Given the description of an element on the screen output the (x, y) to click on. 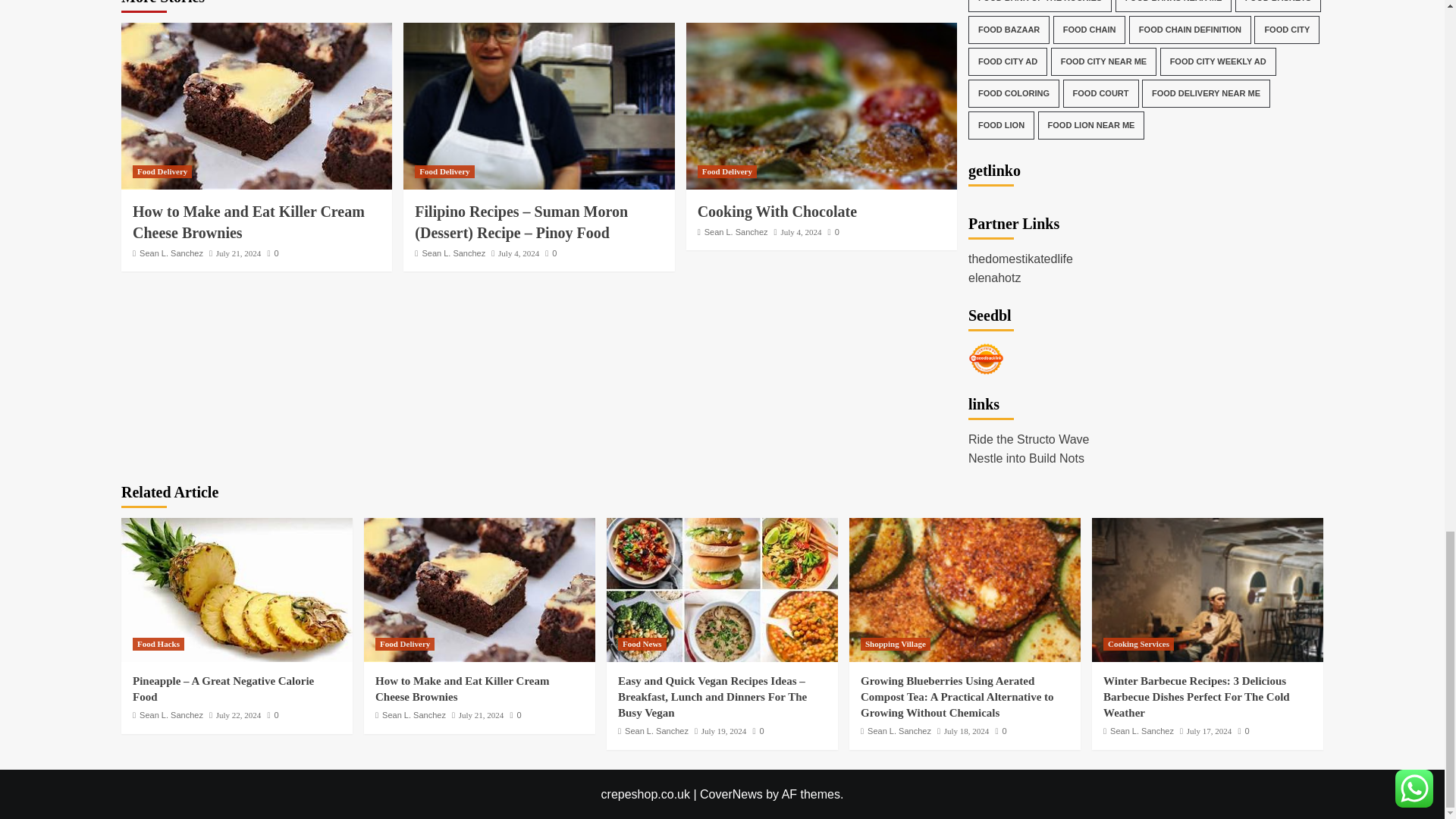
How to Make and Eat Killer Cream Cheese Brownies (479, 589)
Cooking With Chocolate (820, 105)
Seedbacklink (986, 358)
How to Make and Eat Killer Cream Cheese Brownies (255, 105)
